Given the description of an element on the screen output the (x, y) to click on. 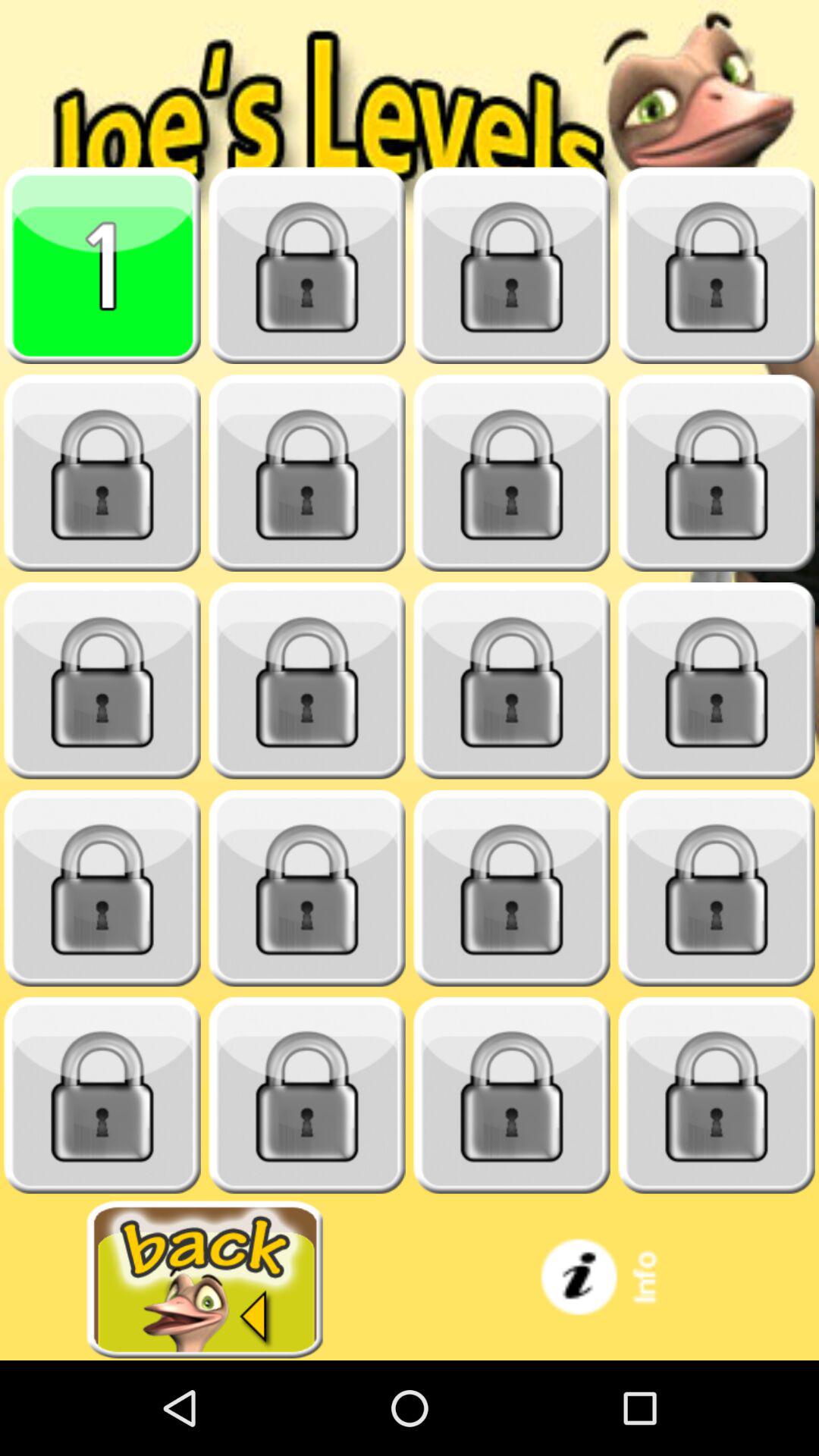
unlock section (716, 265)
